Given the description of an element on the screen output the (x, y) to click on. 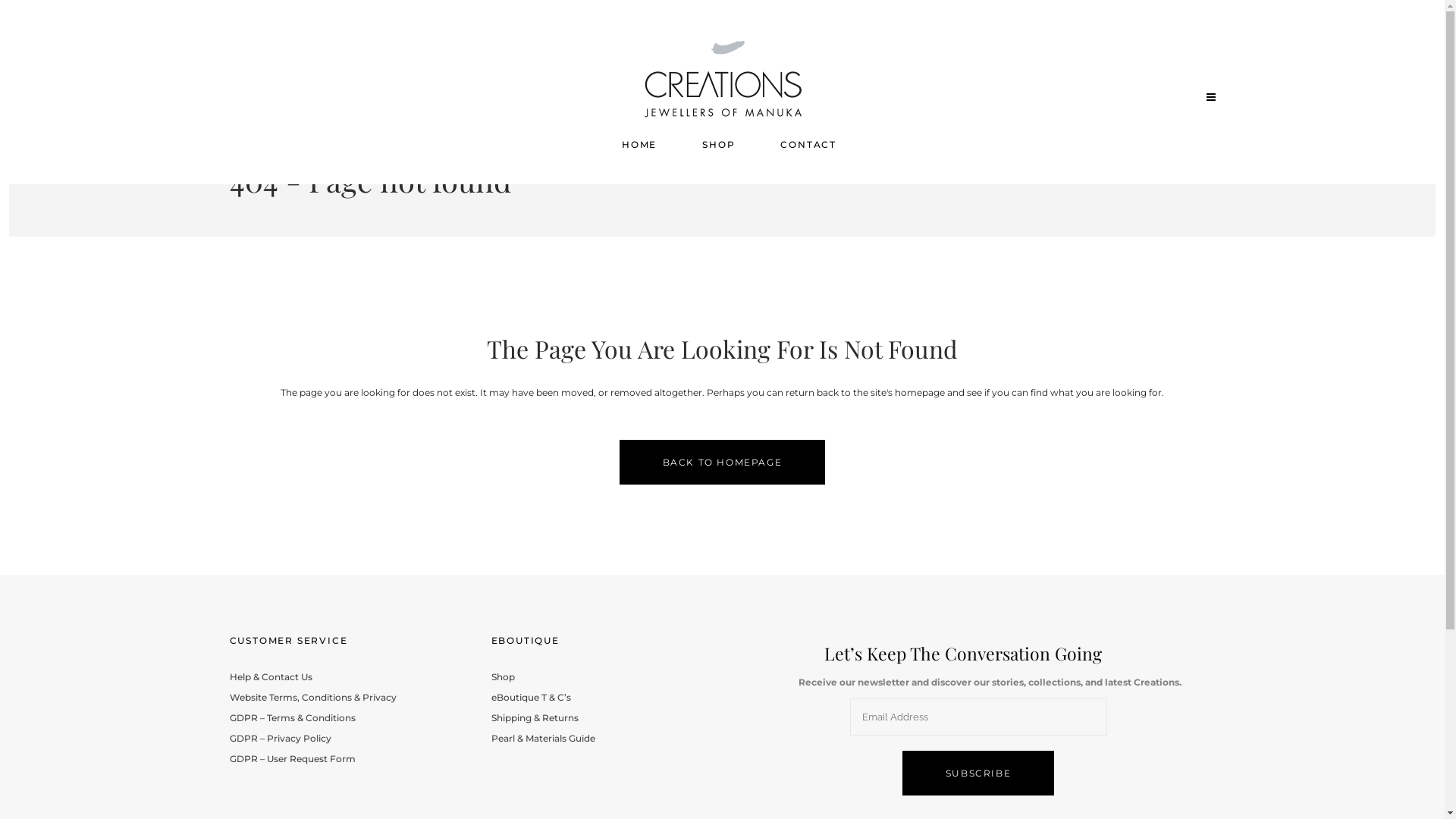
Shop Element type: text (603, 676)
BACK TO HOMEPAGE Element type: text (722, 461)
SHOP Element type: text (718, 144)
Shipping & Returns Element type: text (603, 717)
Pearl & Materials Guide Element type: text (603, 738)
Subscribe Element type: text (978, 772)
Help & Contact Us Element type: text (346, 676)
HOME Element type: text (639, 144)
Website Terms, Conditions & Privacy Element type: text (346, 697)
CONTACT Element type: text (808, 144)
